Given the description of an element on the screen output the (x, y) to click on. 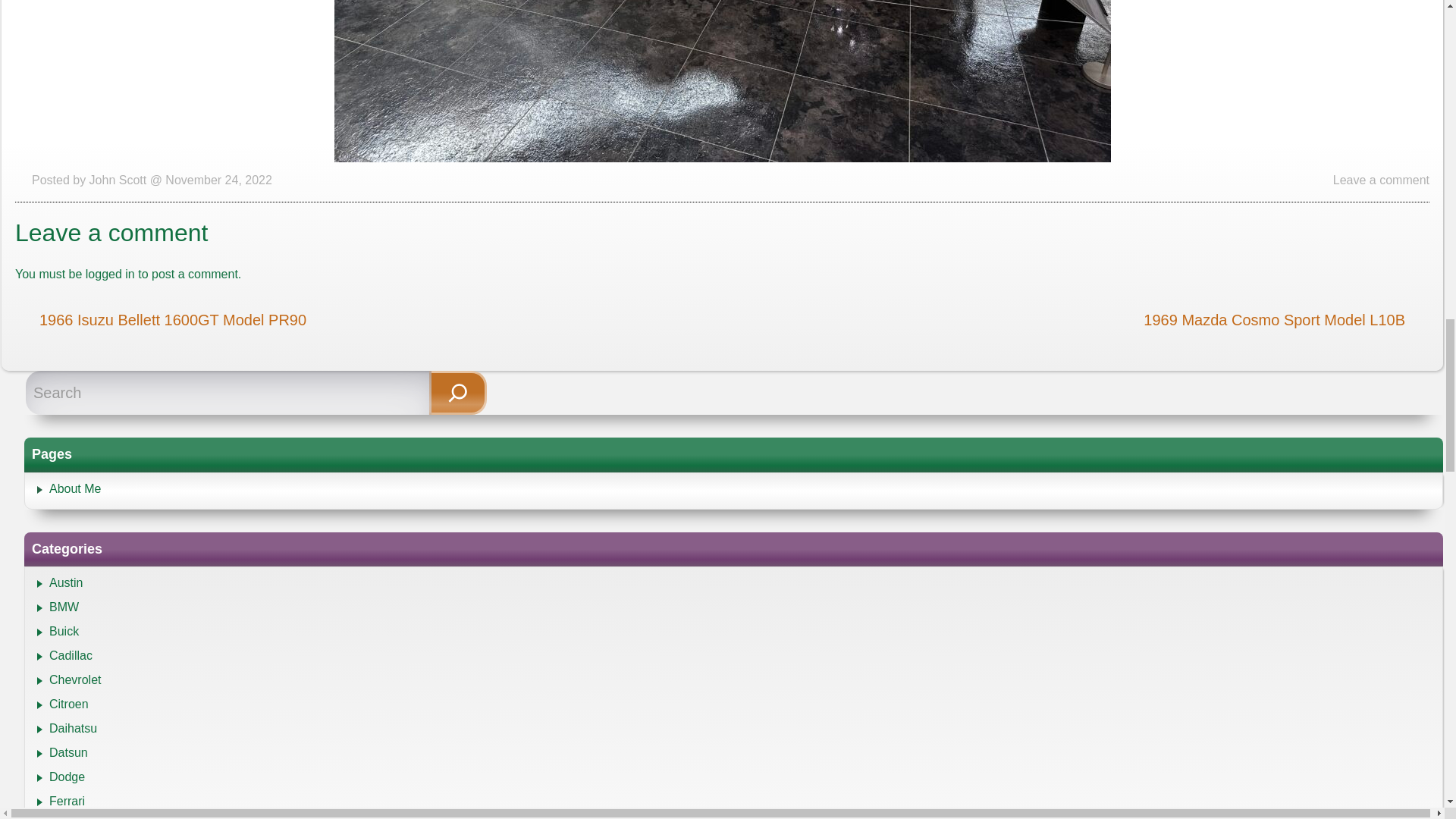
1966 Isuzu Bellett 1600GT Model PR90 (172, 319)
Buick (63, 631)
About Me (74, 488)
Leave a comment (1381, 179)
Datsun (68, 752)
Chevrolet (74, 679)
Comment on 1966 Nissan Silvia Model CSP311 (1381, 179)
Austin (65, 582)
Daihatsu (73, 727)
Citroen (68, 703)
